Given the description of an element on the screen output the (x, y) to click on. 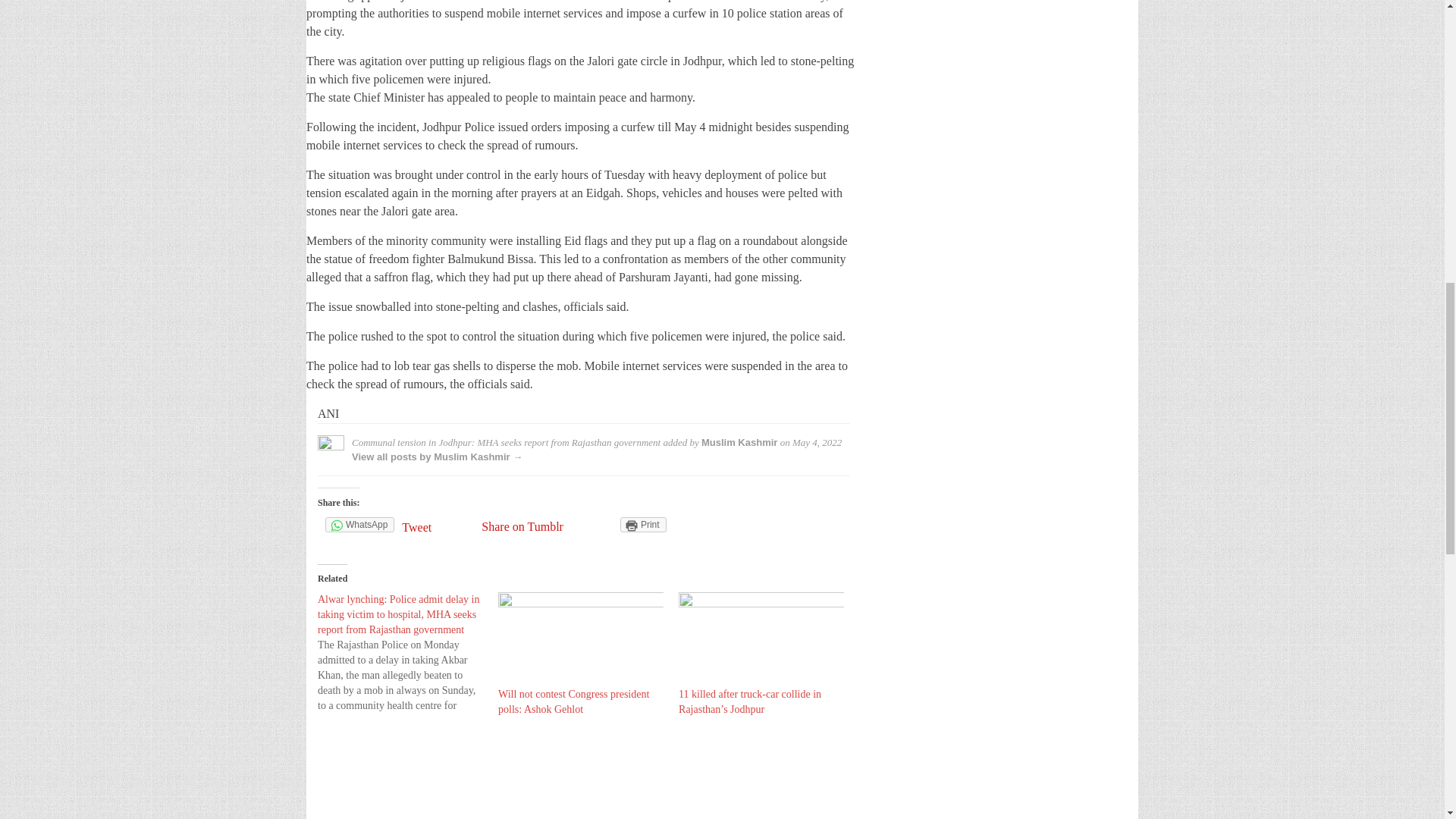
Will not contest Congress president polls: Ashok Gehlot (573, 701)
WhatsApp (359, 524)
Print (643, 524)
Click to share on WhatsApp (359, 524)
Share on Tumblr (522, 526)
Tweet (437, 527)
Will not contest Congress president polls: Ashok Gehlot (573, 701)
